Given the description of an element on the screen output the (x, y) to click on. 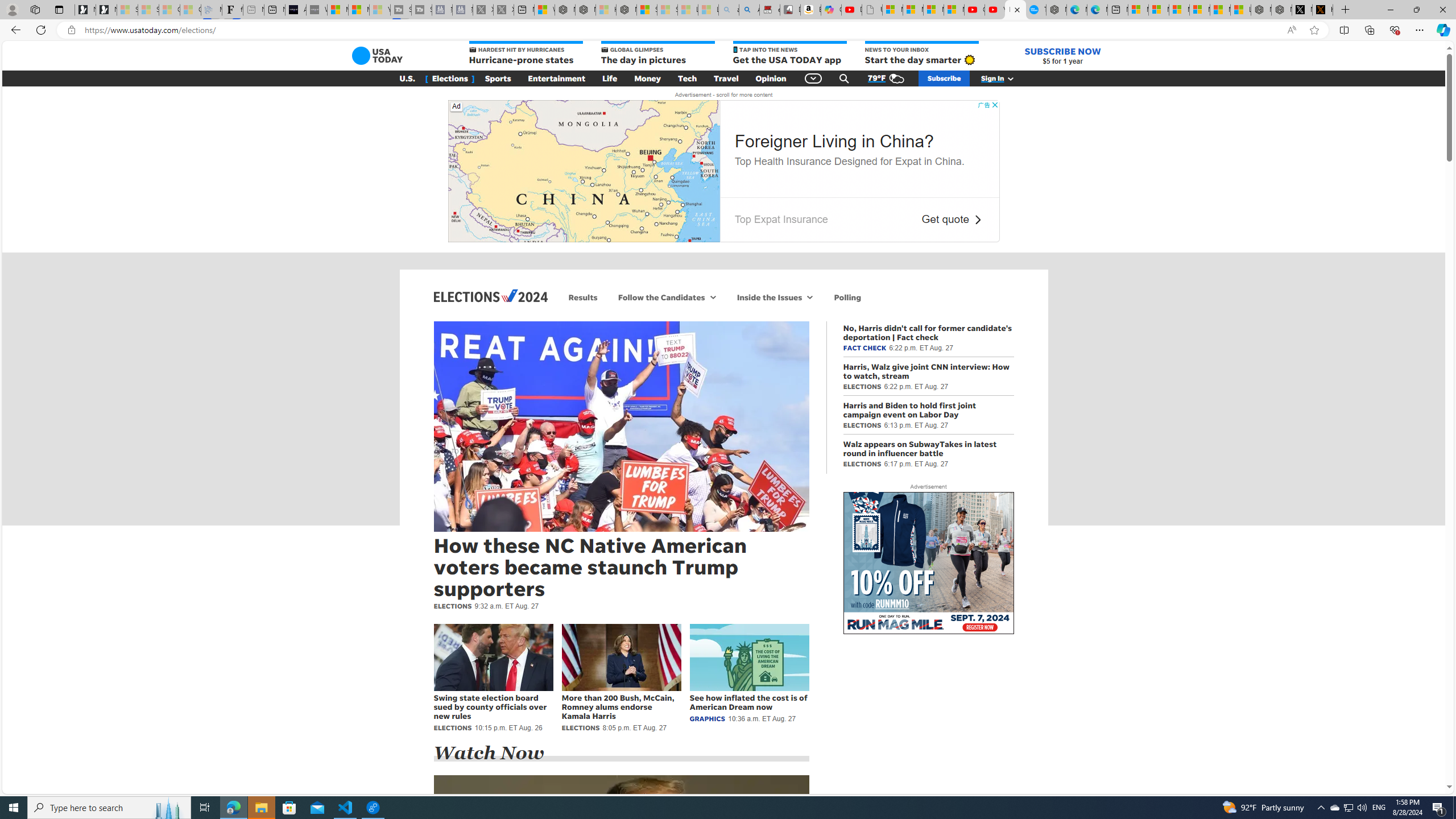
AutomationID: cbb (994, 104)
Microsoft Start Sports (337, 9)
Results (582, 296)
Top Expat Insurance (780, 218)
Nordace - Nordace has arrived Hong Kong (1056, 9)
Class: ns-8fxrh-e-25 (977, 219)
Top Health Insurance Designed for Expat in China. (848, 161)
Wildlife - MSN (544, 9)
